Given the description of an element on the screen output the (x, y) to click on. 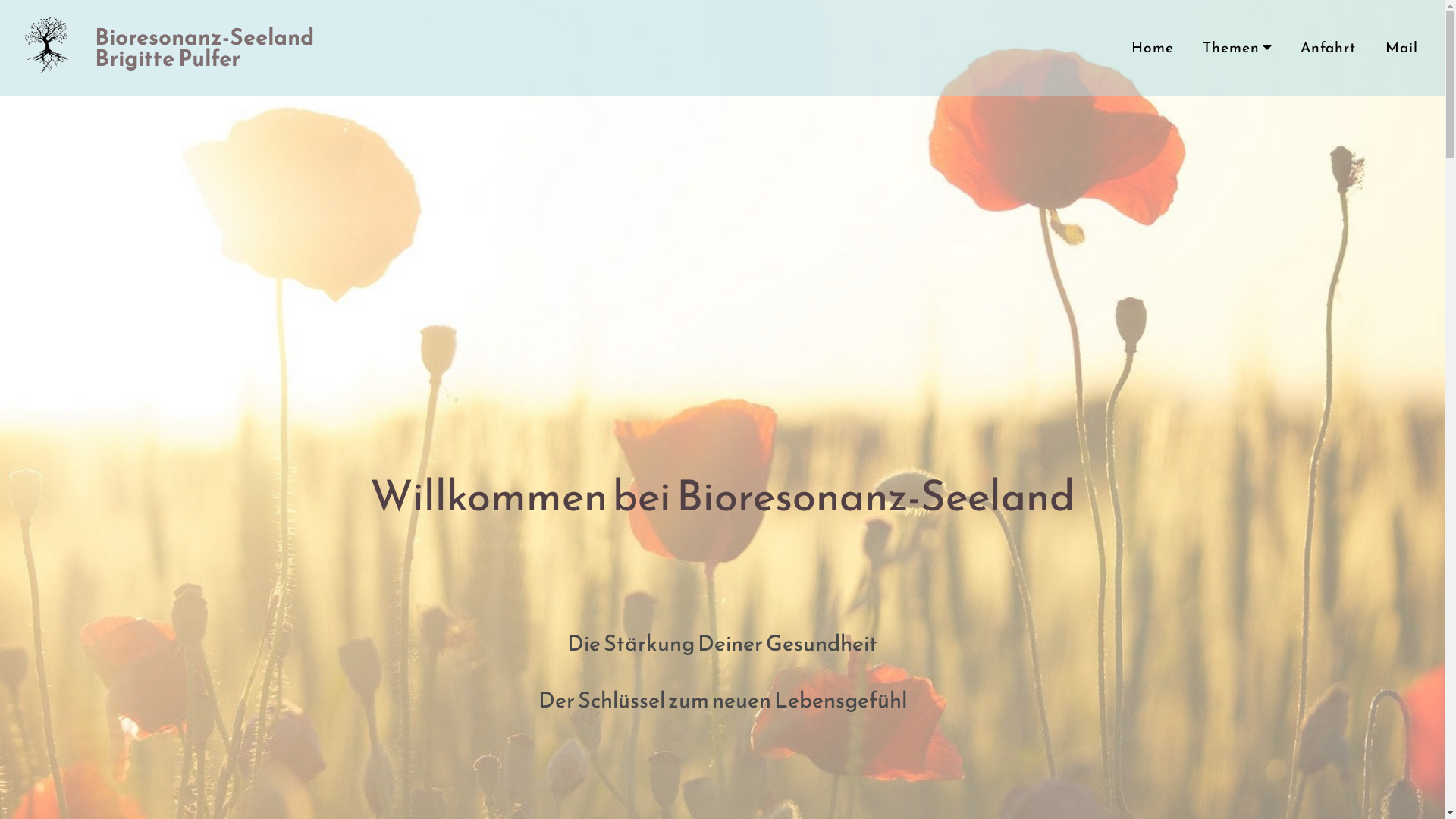
Mail Element type: text (1401, 47)
Home Element type: text (1152, 47)
Bioresonanz-Seeland
Brigitte Pulfer Element type: text (203, 48)
Anfahrt Element type: text (1327, 47)
Themen Element type: text (1236, 47)
